Given the description of an element on the screen output the (x, y) to click on. 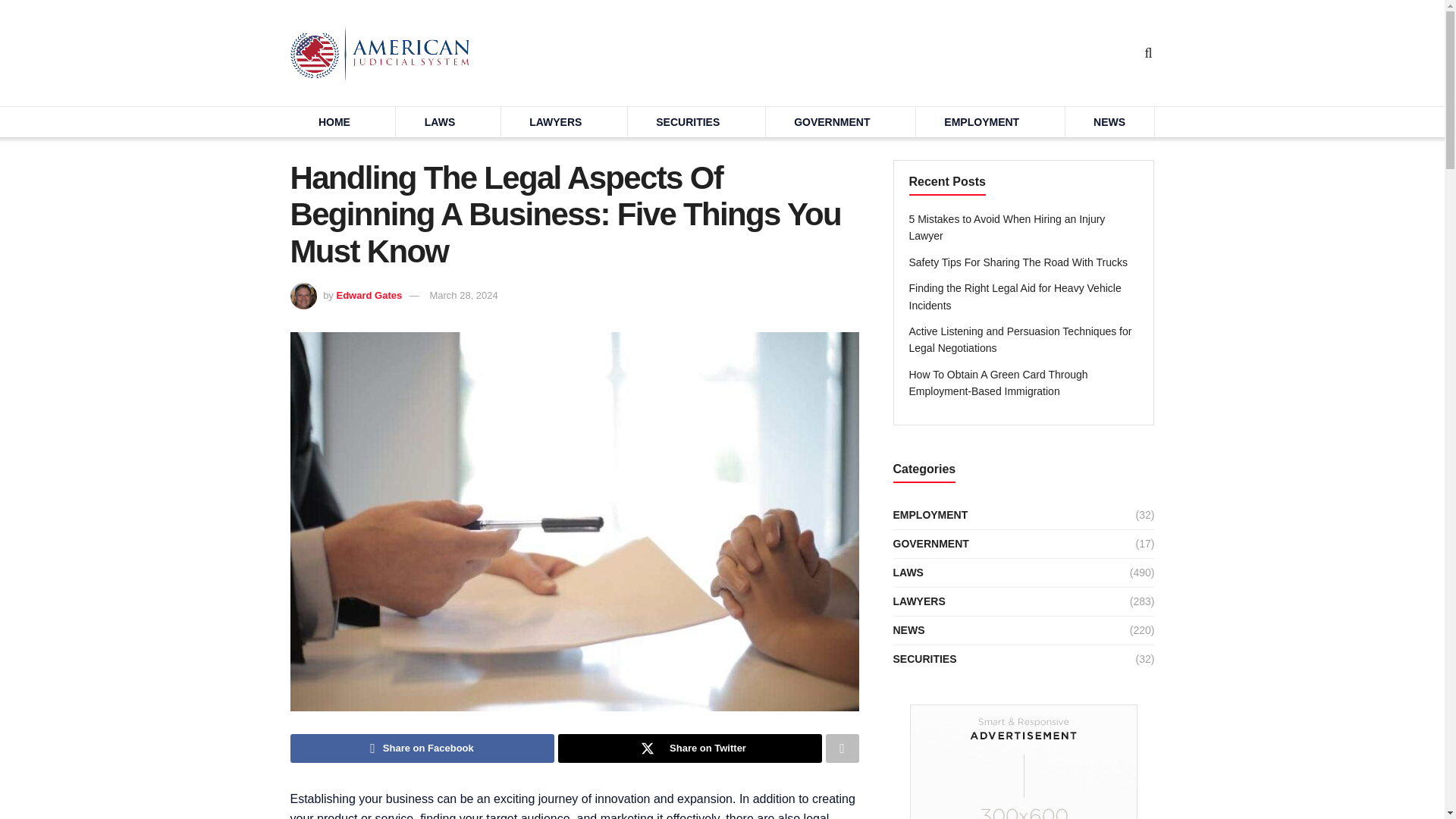
EMPLOYMENT (981, 122)
LAWS (439, 122)
Share on Twitter (689, 747)
Share on Facebook (421, 747)
HOME (333, 122)
LAWYERS (555, 122)
GOVERNMENT (831, 122)
SECURITIES (687, 122)
Edward Gates (368, 295)
March 28, 2024 (463, 295)
NEWS (1109, 122)
